Given the description of an element on the screen output the (x, y) to click on. 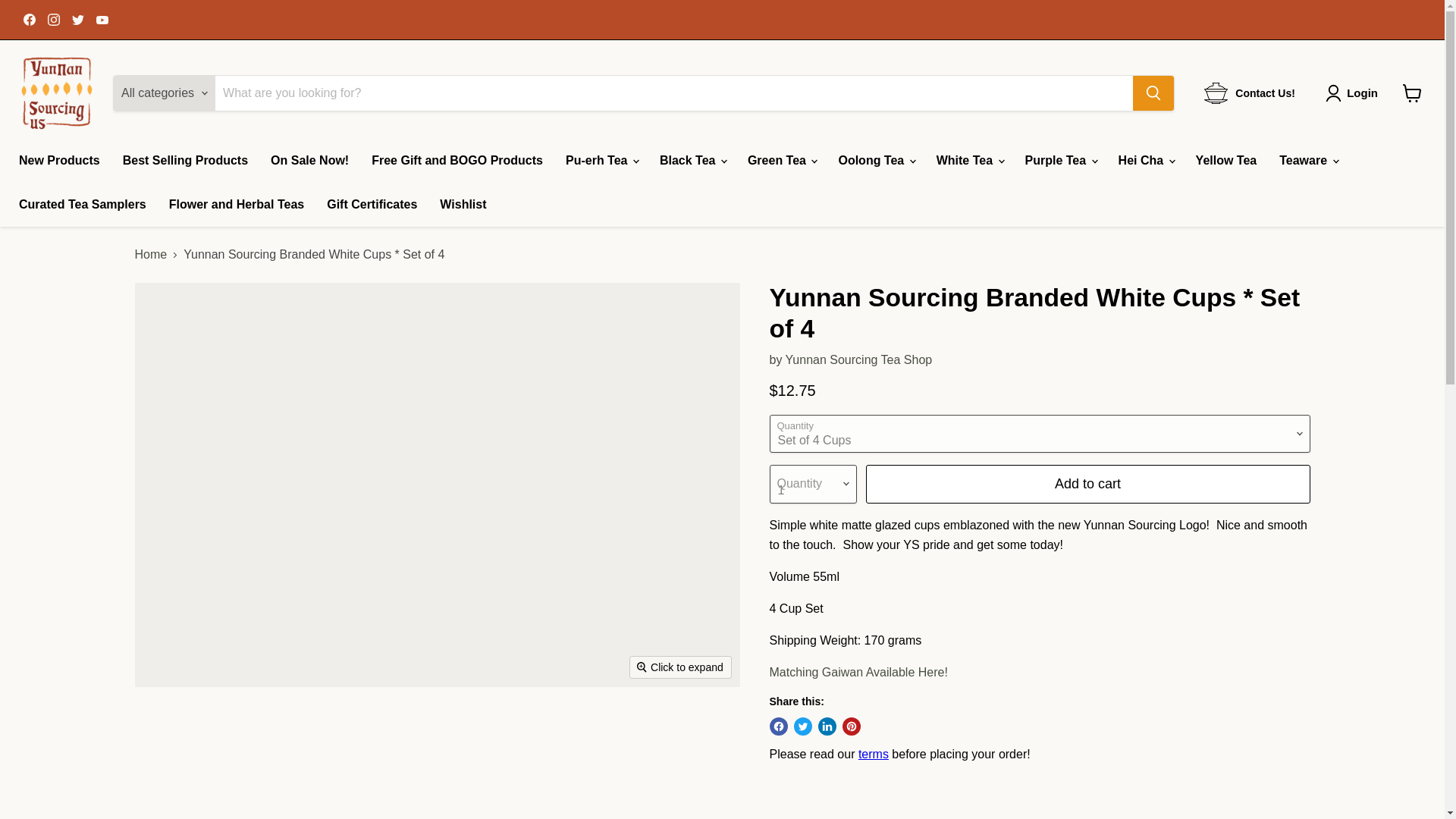
Find us on Instagram (53, 19)
View cart (1411, 92)
Instagram (53, 19)
Contact Us! (1249, 93)
Find us on Facebook (29, 19)
YouTube (102, 19)
Twitter (77, 19)
Find us on YouTube (102, 19)
New Products (59, 160)
Facebook (29, 19)
On Sale Now! (309, 160)
Find us on Twitter (77, 19)
Login (1362, 93)
Free Gift and BOGO Products (456, 160)
Yunnan Sourcing Tea Shop (859, 359)
